Given the description of an element on the screen output the (x, y) to click on. 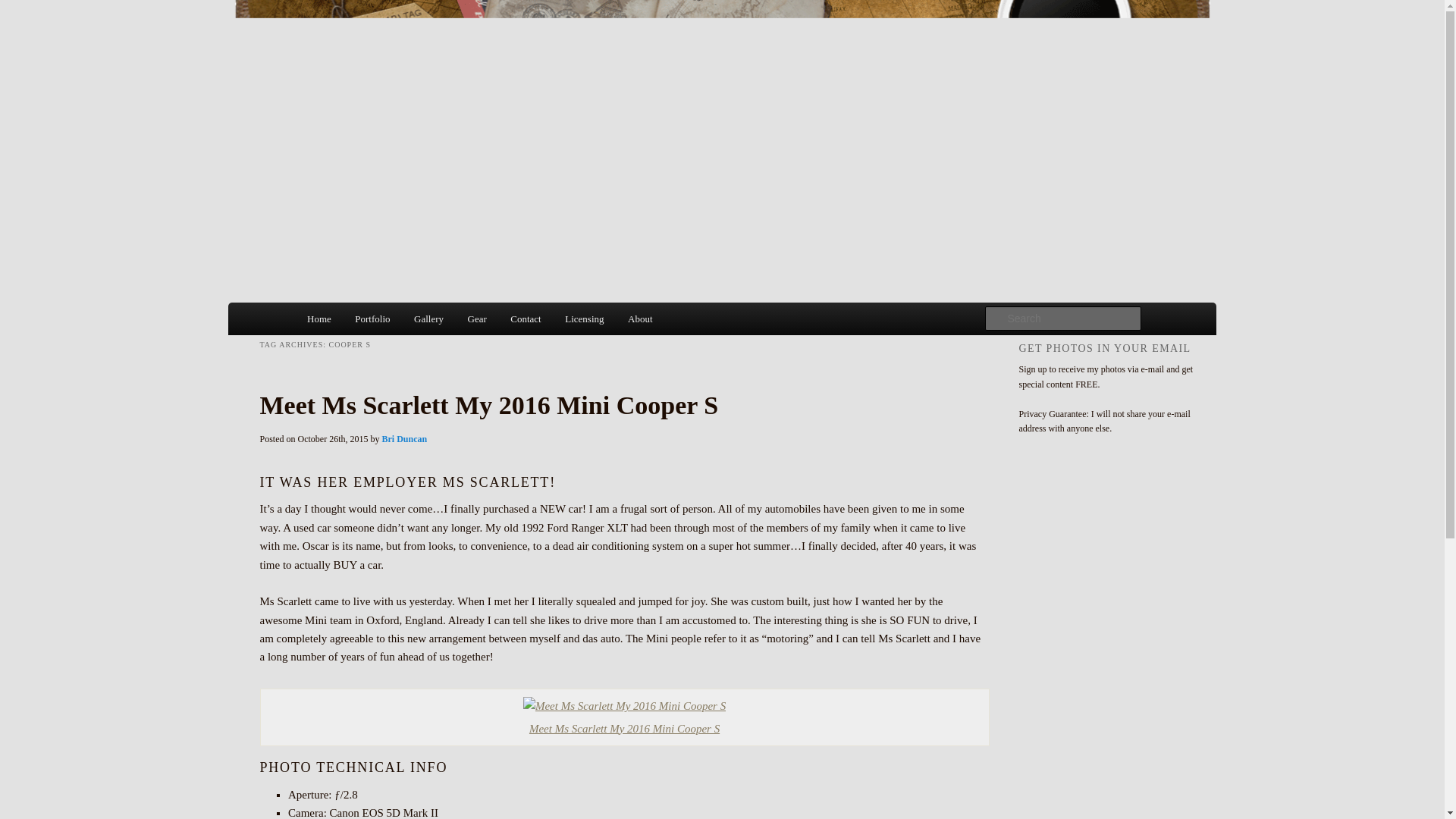
Home (318, 318)
Battered Luggage (389, 54)
Portfolio (373, 318)
Meet Ms Scarlett My 2016 Mini Cooper S (623, 705)
Gallery (427, 318)
Meet Ms Scarlett My 2016 Mini Cooper S (623, 716)
Gear (477, 318)
Portfolio (373, 318)
Bri Duncan (404, 439)
About (639, 318)
